Given the description of an element on the screen output the (x, y) to click on. 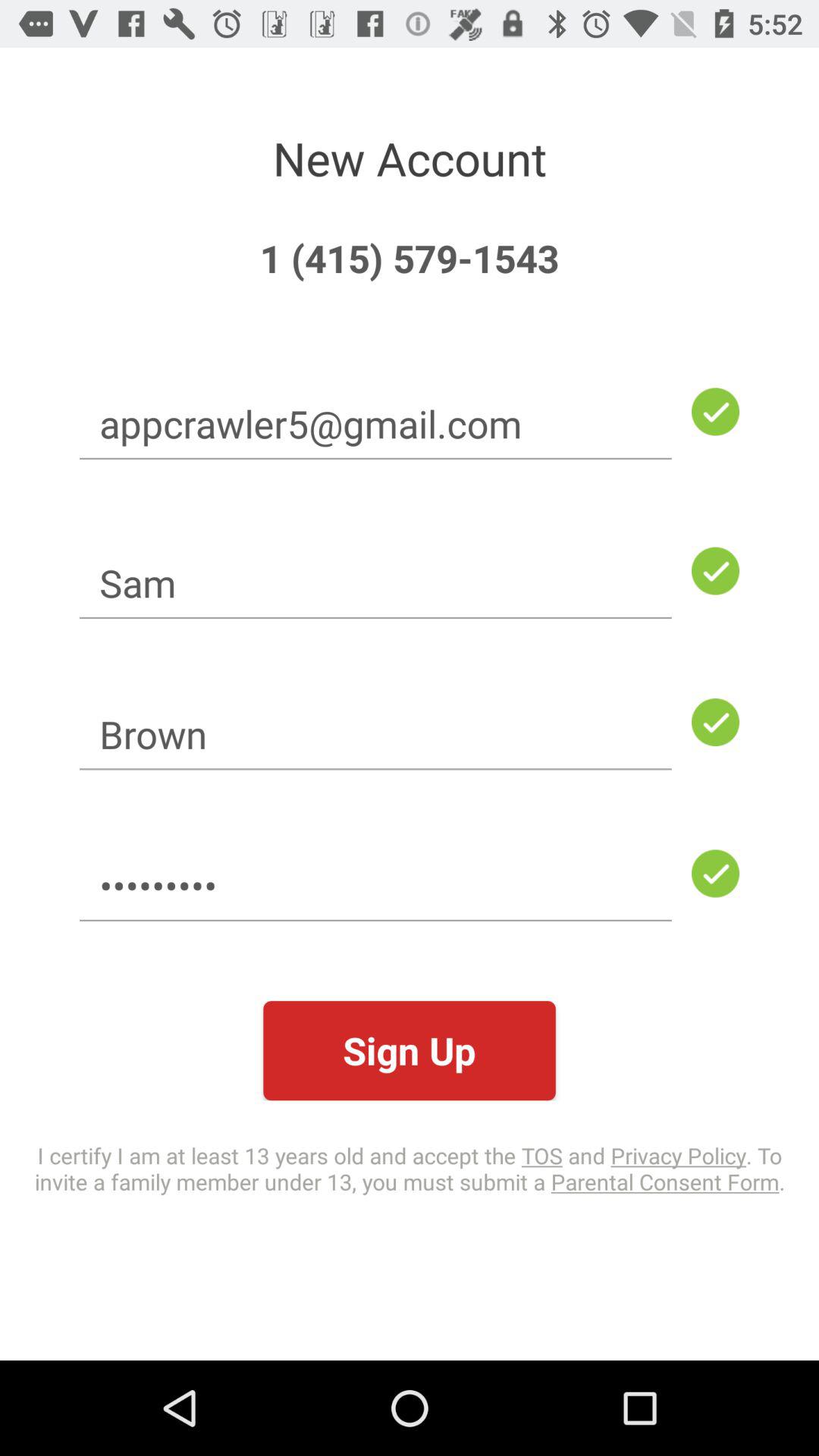
turn on the icon below the crowd3116 (409, 1050)
